Given the description of an element on the screen output the (x, y) to click on. 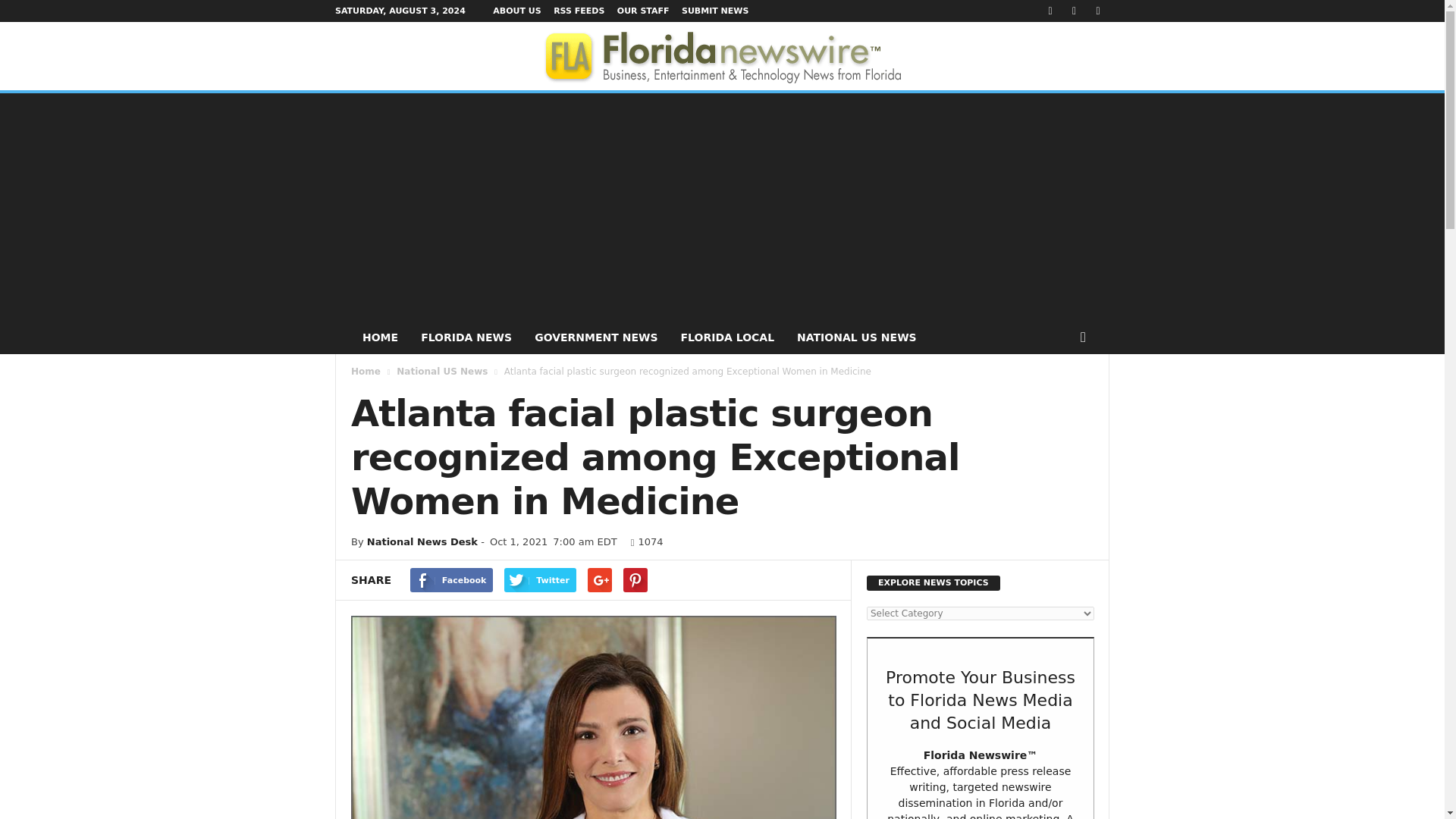
FLORIDA NEWS (465, 337)
HOME (379, 337)
View all posts in National US News (441, 371)
ABOUT US (516, 10)
RSS FEEDS (578, 10)
SUBMIT NEWS (714, 10)
FLORIDA LOCAL (727, 337)
GOVERNMENT NEWS (595, 337)
OUR STAFF (643, 10)
